Given the description of an element on the screen output the (x, y) to click on. 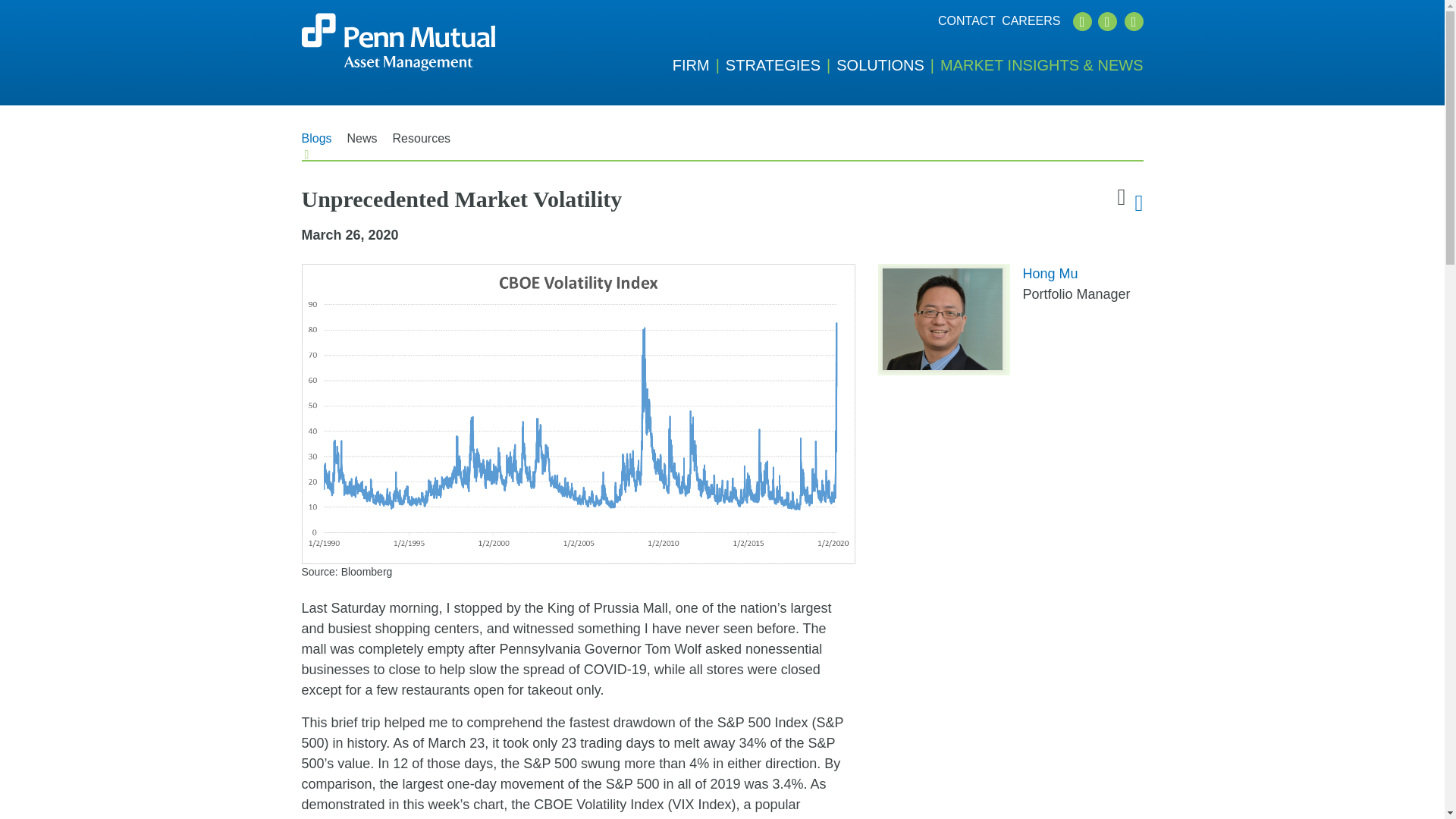
CAREERS (1030, 21)
Twitter (1080, 21)
Blogs (316, 144)
CONTACT (966, 21)
News (362, 144)
Penn Mutual Asset Management Logo (398, 42)
SOLUTIONS (887, 65)
STRATEGIES (780, 65)
Resources (421, 144)
FIRM (698, 65)
LinkedIn (1106, 21)
